Given the description of an element on the screen output the (x, y) to click on. 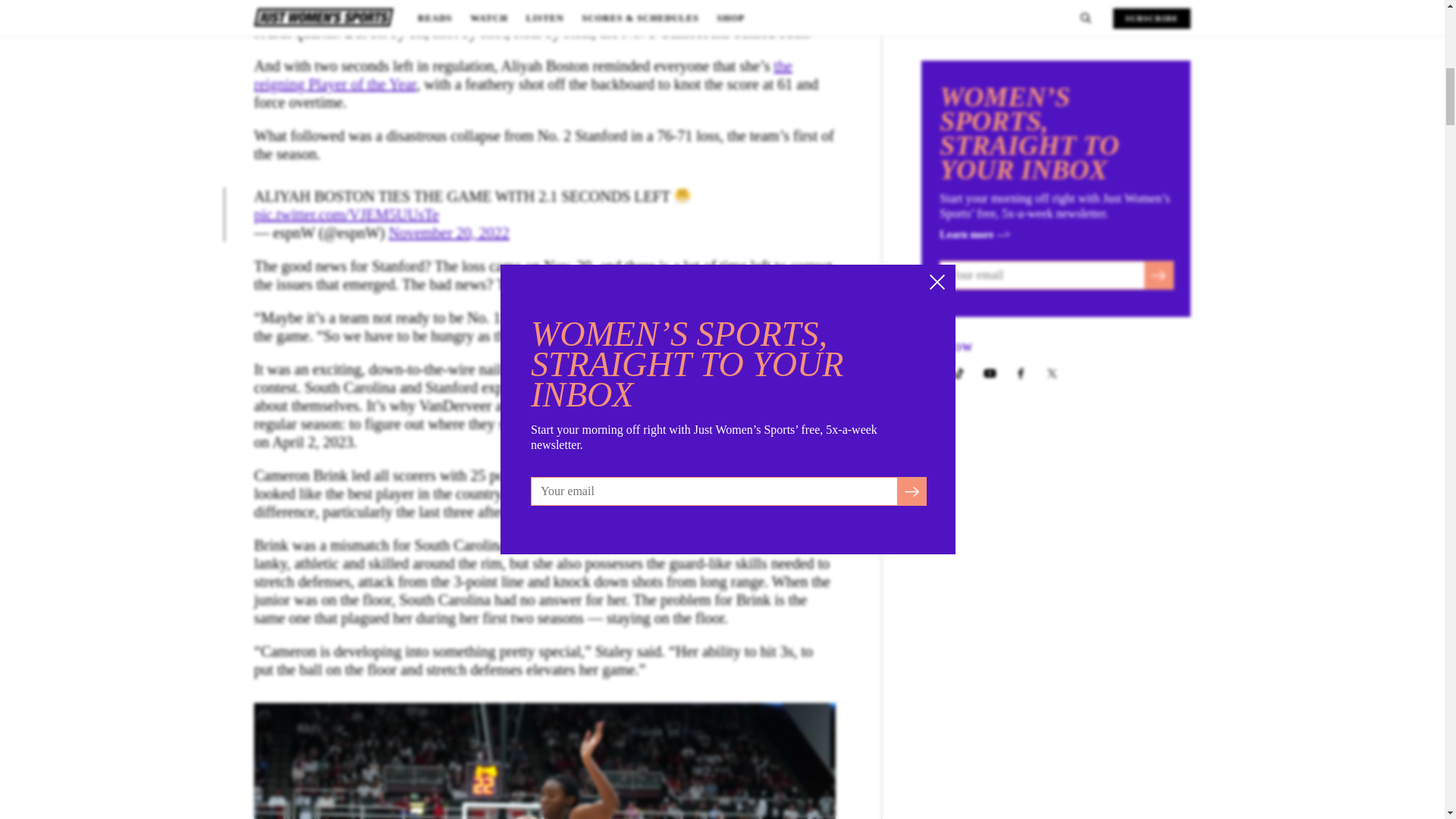
the reigning Player of the Year (522, 74)
November 20, 2022 (448, 232)
